Given the description of an element on the screen output the (x, y) to click on. 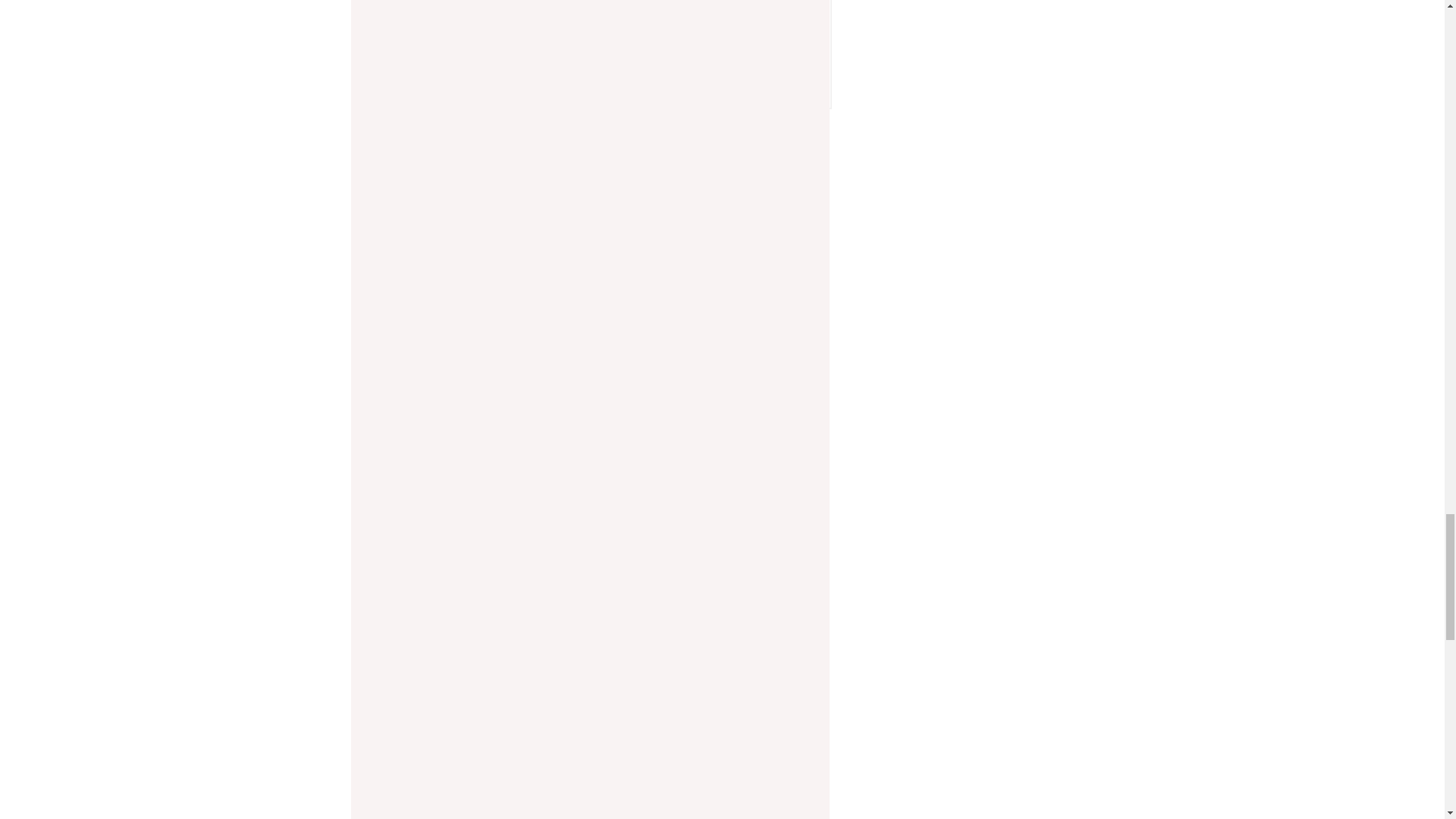
Floral Cards (419, 7)
Stamping (700, 7)
Cards 2023 (618, 7)
Guest Designing (519, 7)
Gina K Designs (768, 60)
